Given the description of an element on the screen output the (x, y) to click on. 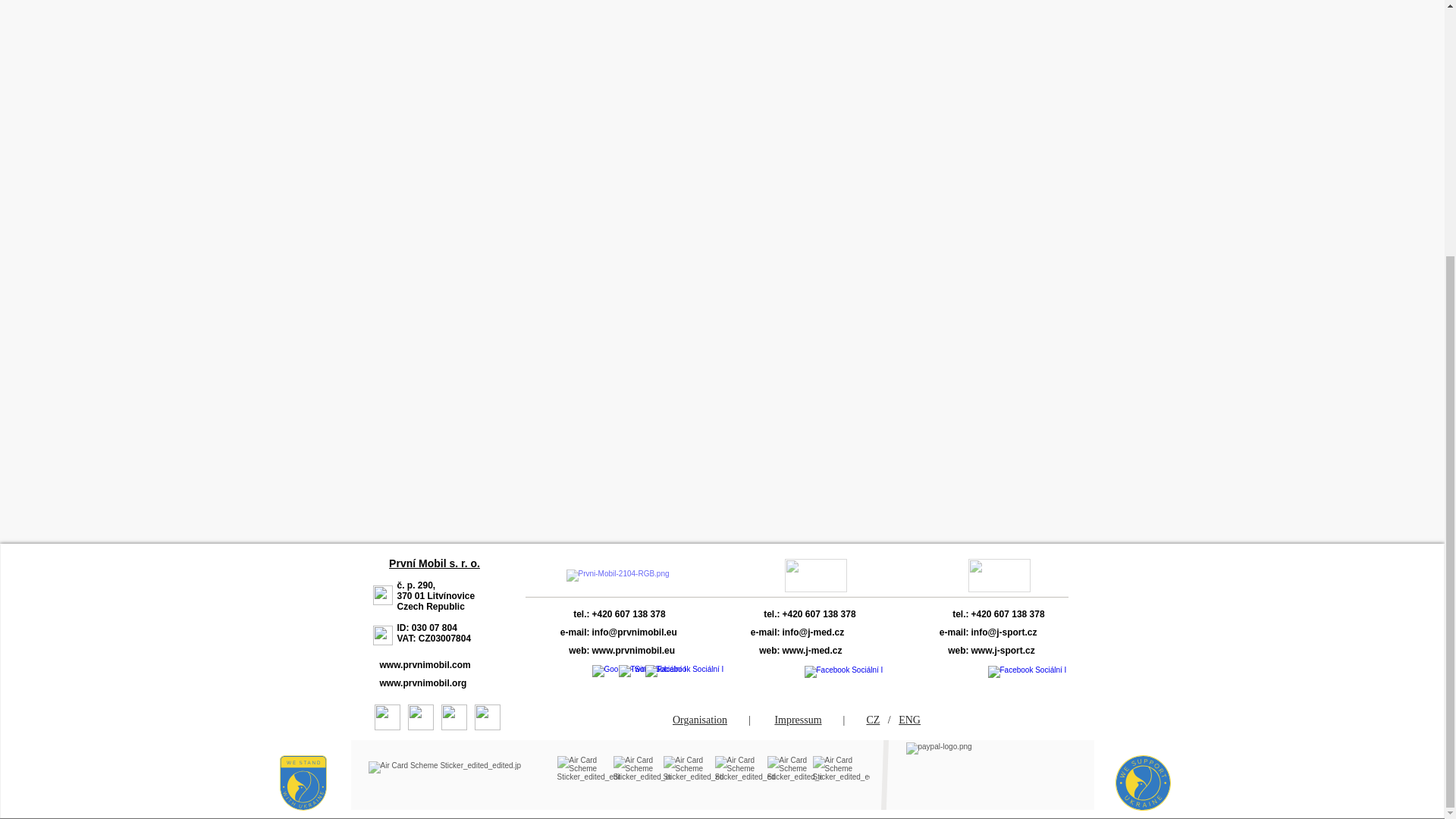
e-mail: (751, 632)
View More (628, 579)
tel.: (567, 614)
www.prvnimobil.com (432, 665)
web: (569, 650)
www.j-med.cz (838, 650)
tel.: (756, 614)
View More (814, 575)
www.prvnimobil.org (431, 683)
www.prvnimobil.eu (666, 650)
